Given the description of an element on the screen output the (x, y) to click on. 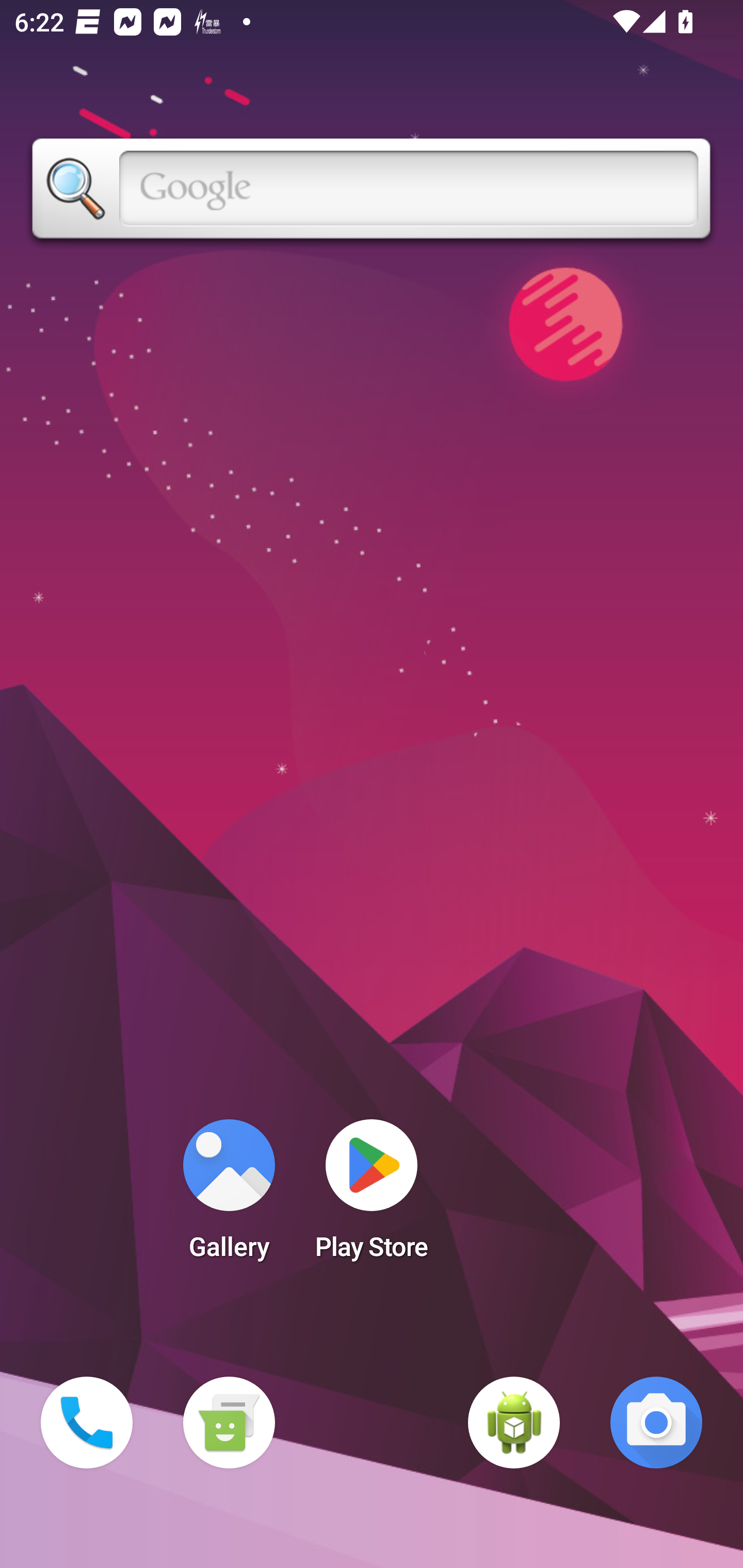
Gallery (228, 1195)
Play Store (371, 1195)
Phone (86, 1422)
Messaging (228, 1422)
WebView Browser Tester (513, 1422)
Camera (656, 1422)
